Given the description of an element on the screen output the (x, y) to click on. 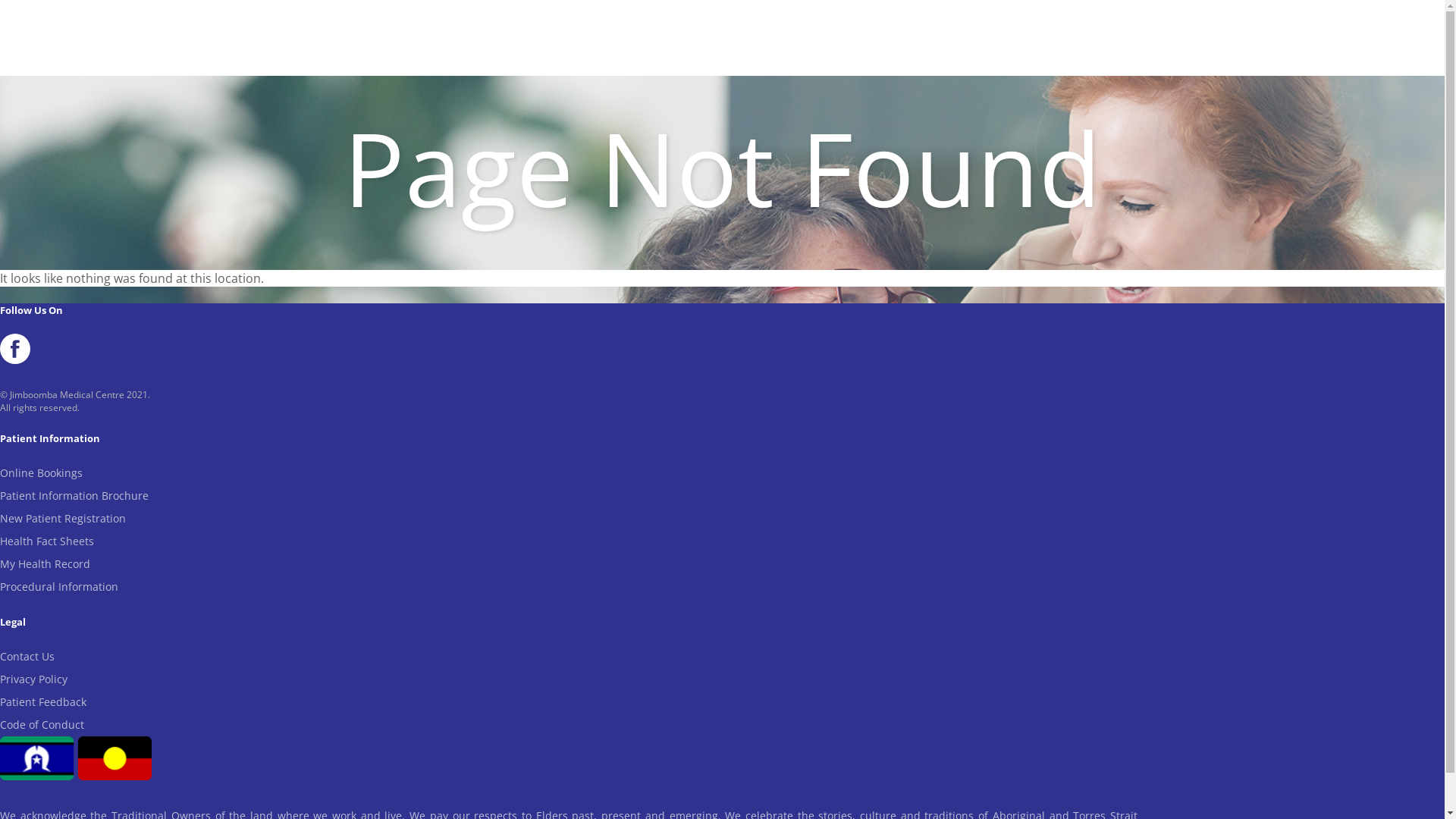
Health Fact Sheets Element type: text (47, 540)
Procedural Information Element type: text (59, 586)
New Patient Registration Element type: text (62, 518)
Privacy Policy Element type: text (33, 678)
My Health Record Element type: text (45, 563)
Patient Feedback Element type: text (43, 701)
Code of Conduct Element type: text (42, 724)
Patient Information Brochure Element type: text (74, 495)
Contact Us Element type: text (27, 656)
Online Bookings Element type: text (41, 472)
